Given the description of an element on the screen output the (x, y) to click on. 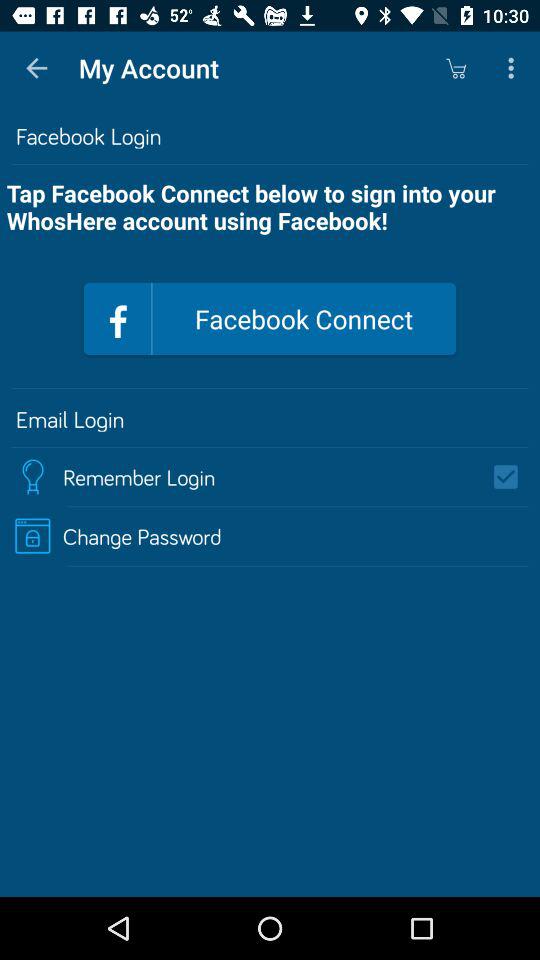
choose the app to the right of the my account icon (455, 67)
